Given the description of an element on the screen output the (x, y) to click on. 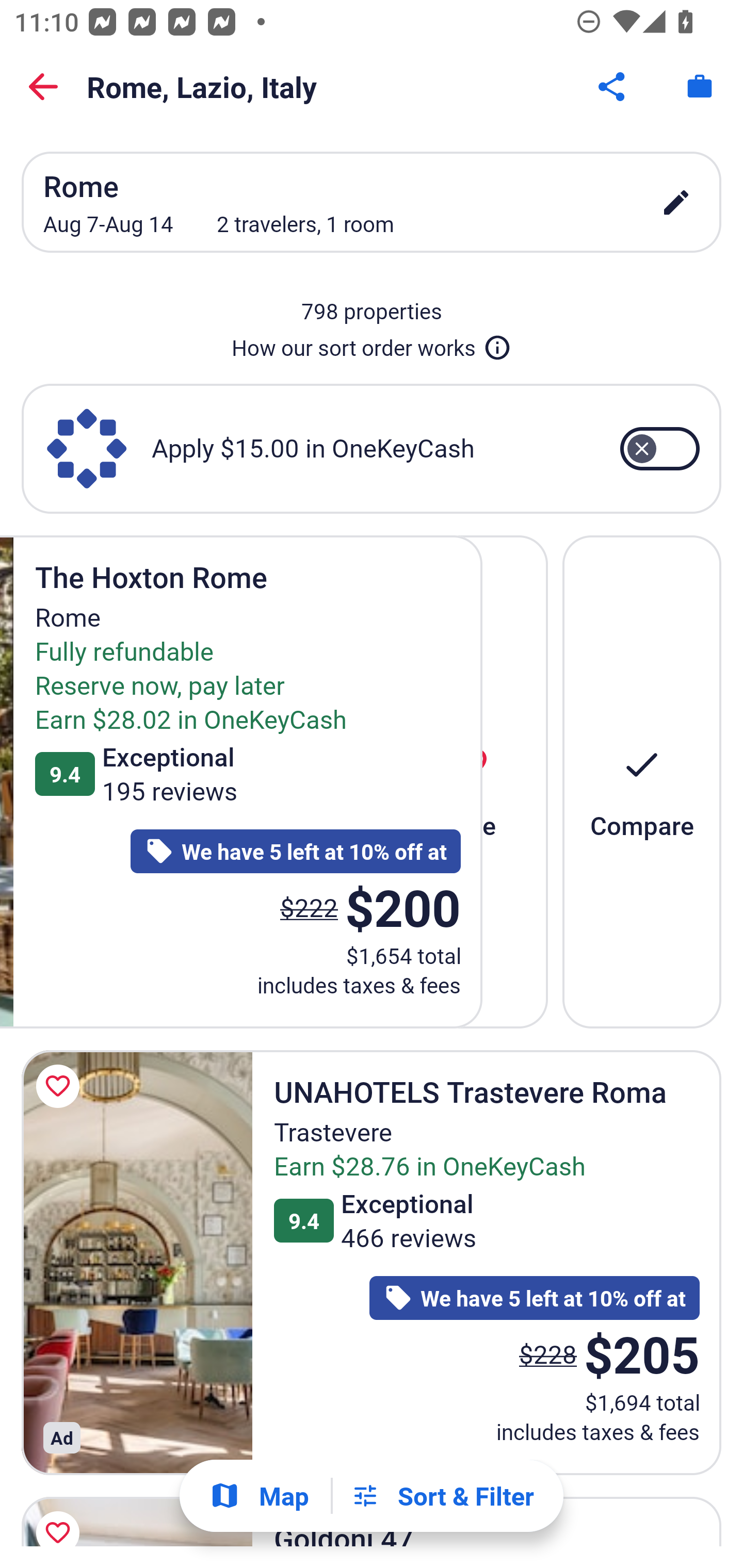
Back (43, 86)
Share Button (612, 86)
Trips. Button (699, 86)
Rome Aug 7-Aug 14 2 travelers, 1 room edit (371, 202)
How our sort order works (371, 344)
Compare (641, 781)
$222 The price was $222 (312, 906)
Save UNAHOTELS Trastevere Roma to a trip (61, 1085)
UNAHOTELS Trastevere Roma (136, 1262)
$228 The price was $228 (547, 1353)
Filters Sort & Filter Filters Button (442, 1495)
Show map Map Show map Button (258, 1495)
Save Goldoni 47 to a trip (61, 1517)
